Given the description of an element on the screen output the (x, y) to click on. 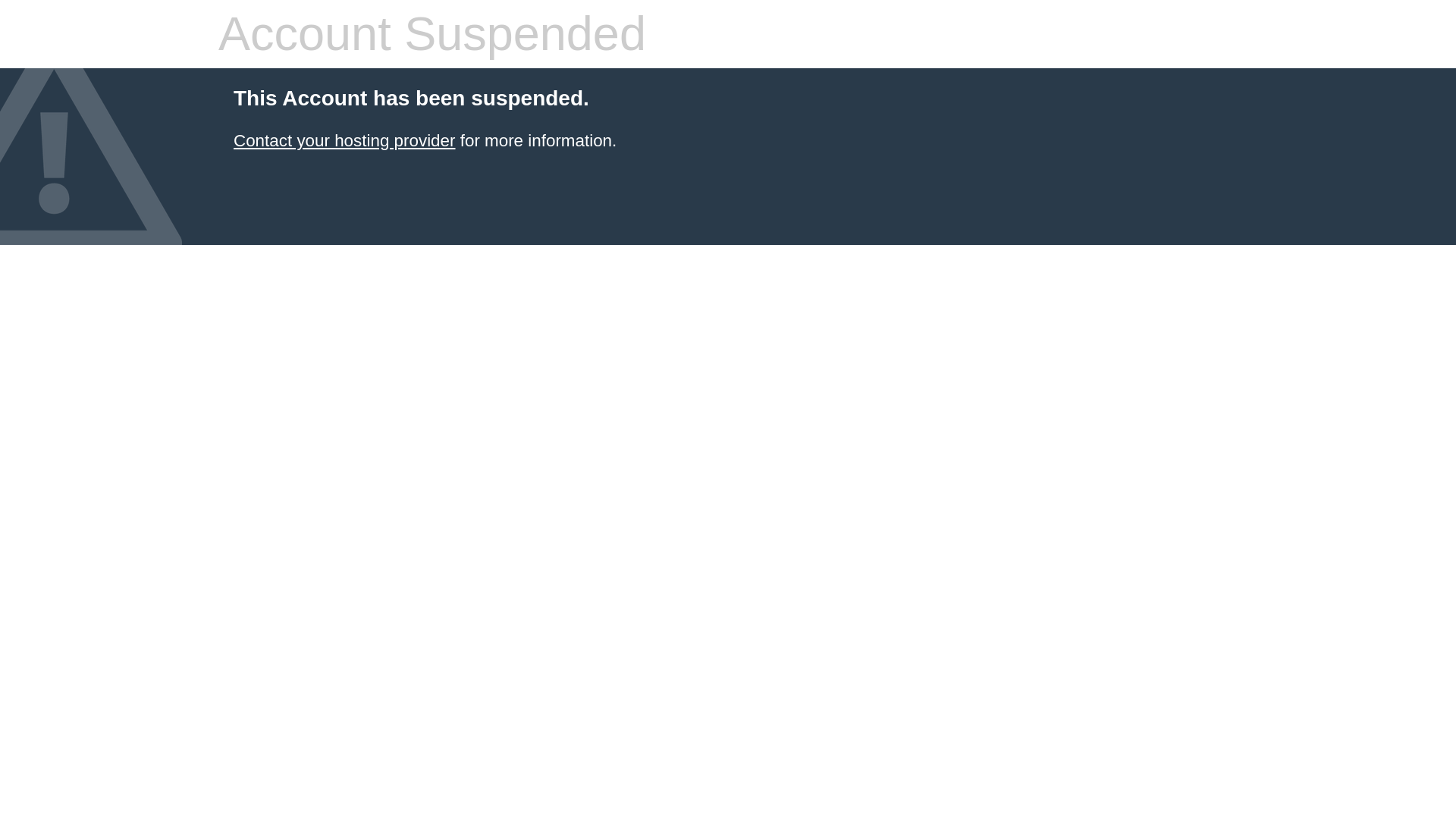
Contact your hosting provider (343, 140)
